Given the description of an element on the screen output the (x, y) to click on. 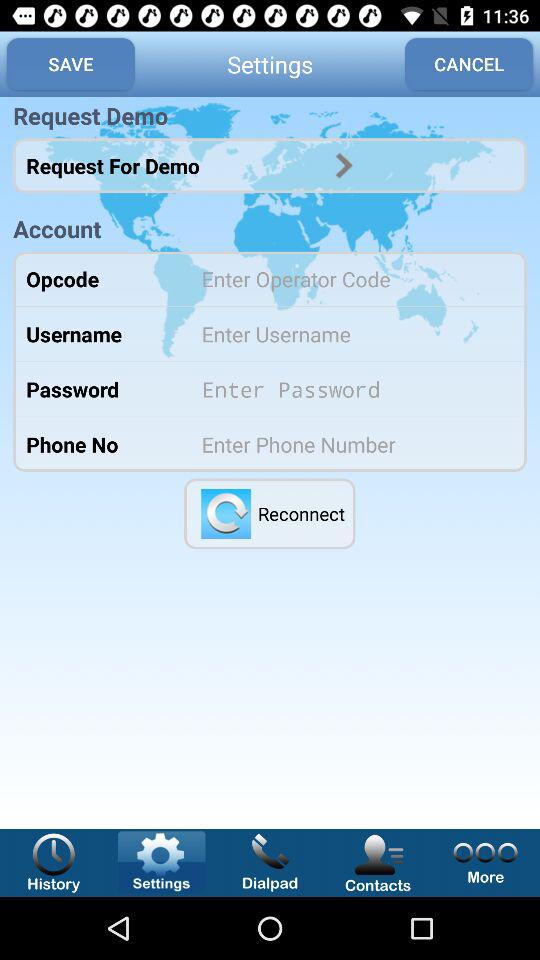
turn on the icon to the left of settings item (70, 64)
